Given the description of an element on the screen output the (x, y) to click on. 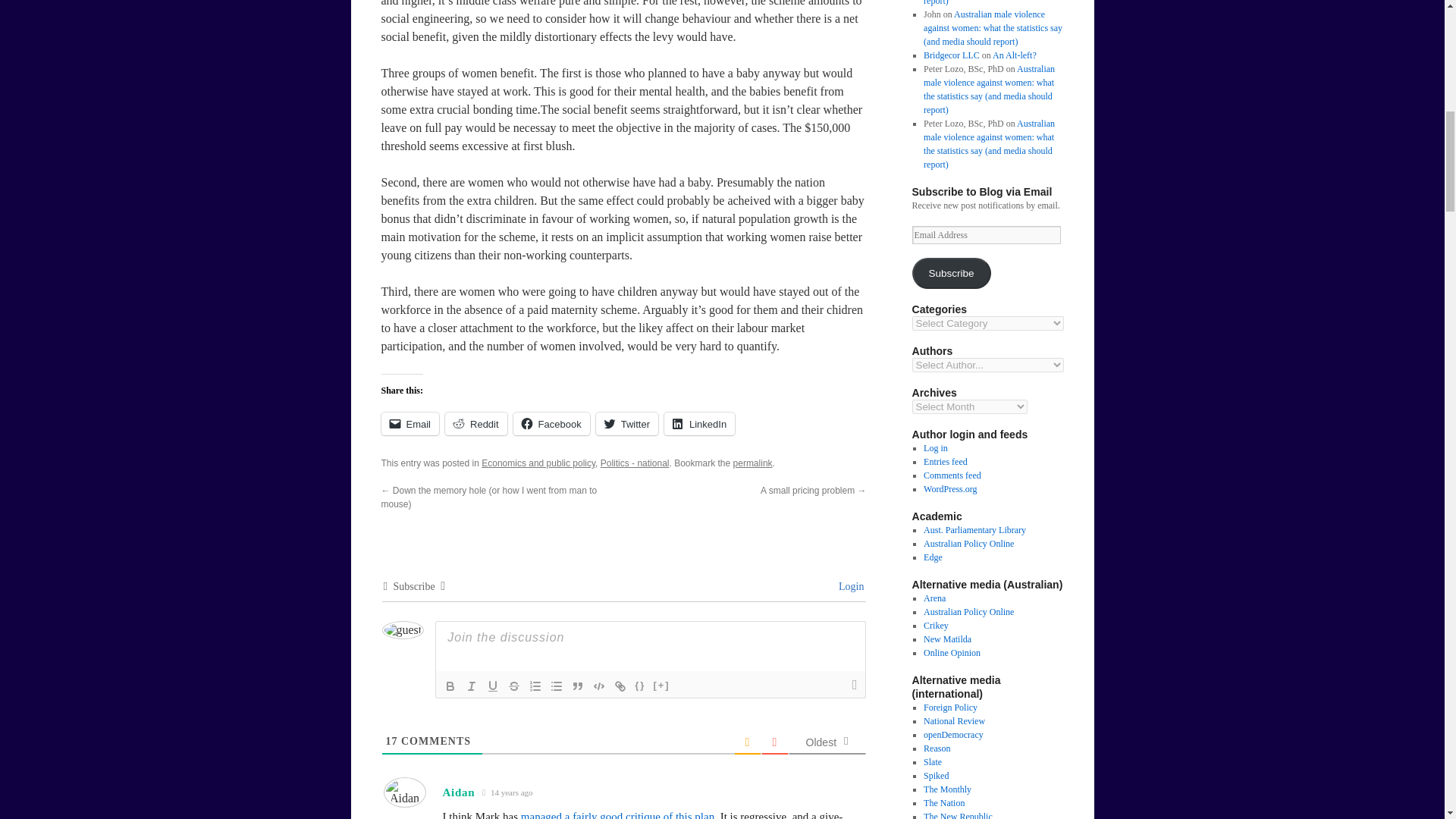
Unordered List (556, 686)
Twitter (626, 423)
bullet (556, 686)
Login (849, 586)
Bold (450, 686)
LinkedIn (699, 423)
Permalink to Social engineering with Tony (753, 462)
ordered (535, 686)
Click to share on Facebook (551, 423)
Facebook (551, 423)
Strike (513, 686)
Click to email a link to a friend (409, 423)
Email (409, 423)
Politics - national (634, 462)
permalink (753, 462)
